Given the description of an element on the screen output the (x, y) to click on. 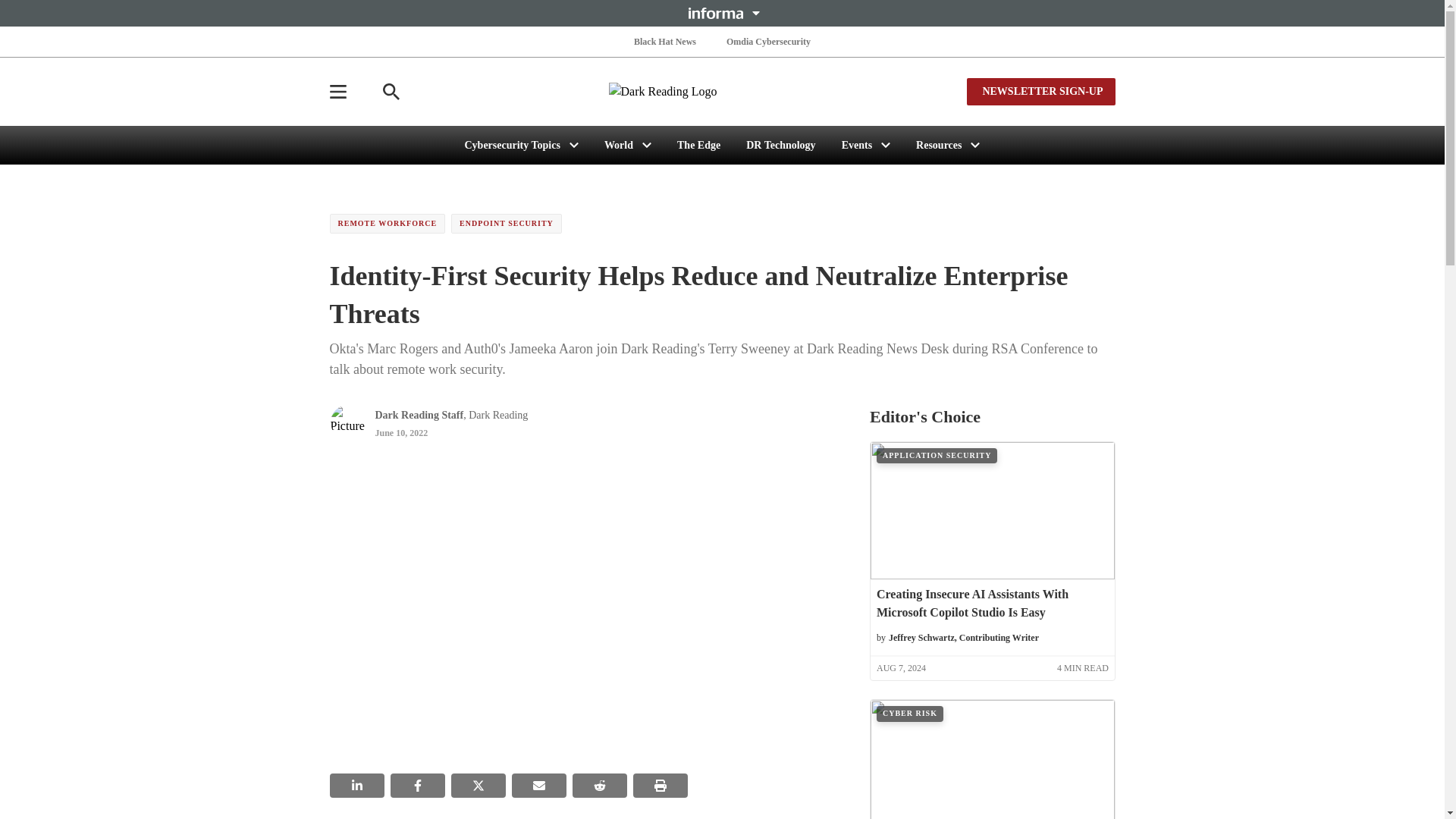
Black Hat News (664, 41)
Dark Reading Logo (721, 91)
NEWSLETTER SIGN-UP (1040, 90)
Picture of Dark Reading Staff (347, 422)
Omdia Cybersecurity (768, 41)
